Given the description of an element on the screen output the (x, y) to click on. 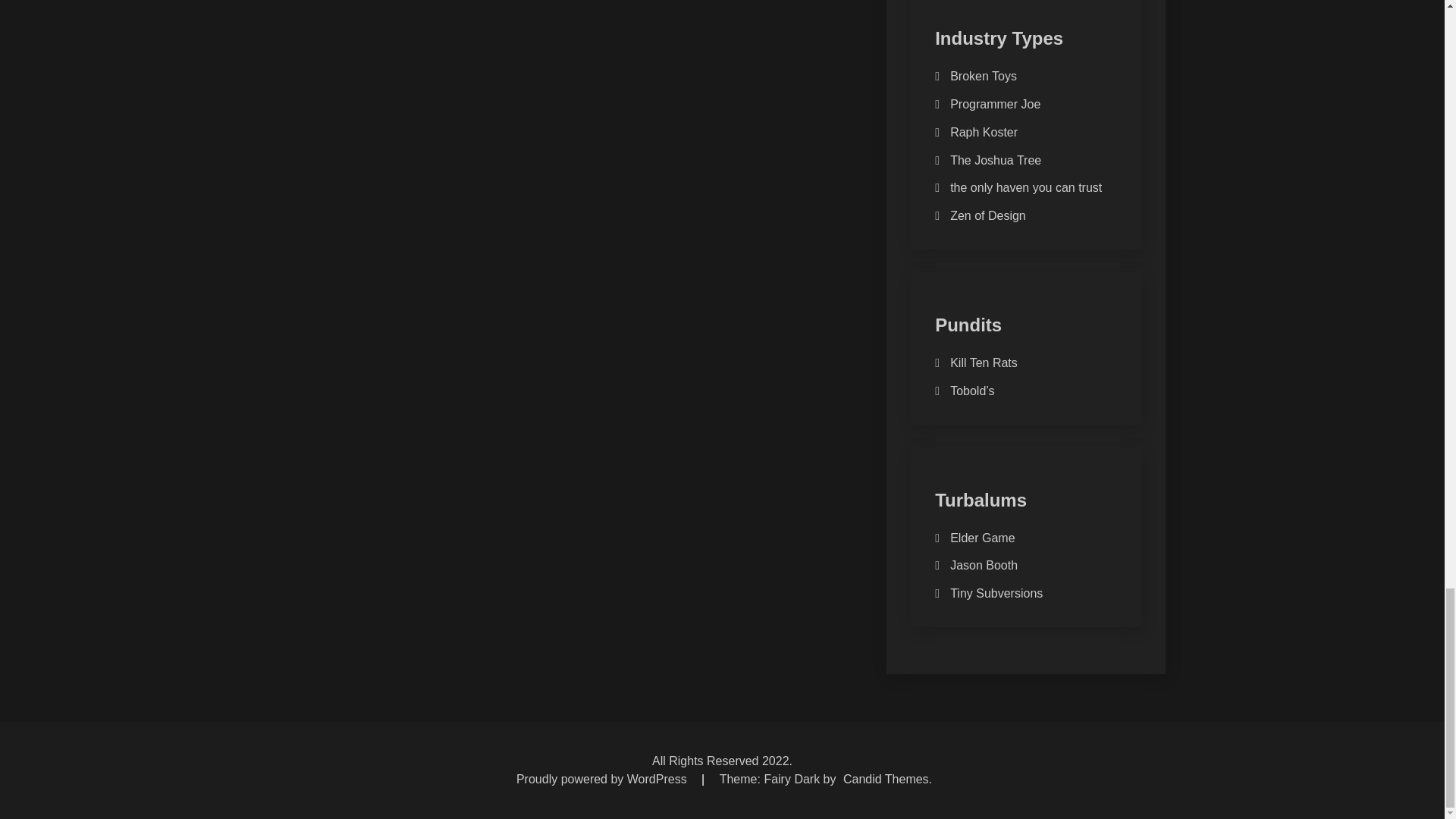
Eric Heimberg and Sandra Powers hold forth on MMORPG design. (982, 537)
Tobold opines. (972, 390)
Damion Schubert, who has been at this an awfully long time. (988, 215)
Punditry, currently obsessing on LOTRO.  (983, 362)
Joshua Kriegshauser of SOE on all kinds of stuff. (995, 160)
Scott Jennings, aka Lum the Mad. (983, 75)
